Given the description of an element on the screen output the (x, y) to click on. 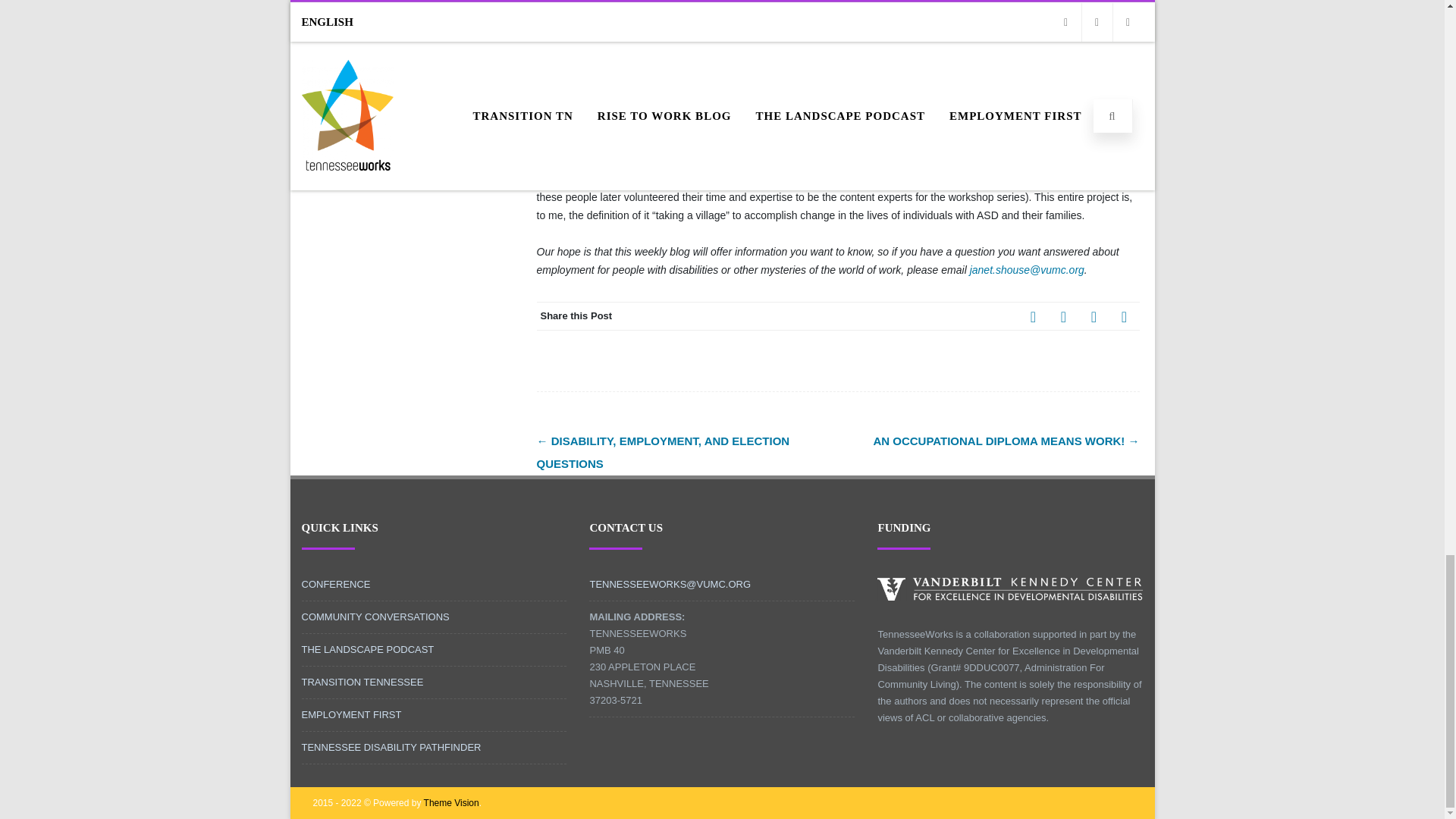
THE LANDSCAPE PODCAST (367, 649)
COMMUNITY CONVERSATIONS (375, 616)
Twitter (1063, 316)
CONFERENCE (336, 583)
Email (1123, 316)
Facebook (1032, 316)
LinkedIn (1093, 316)
